Given the description of an element on the screen output the (x, y) to click on. 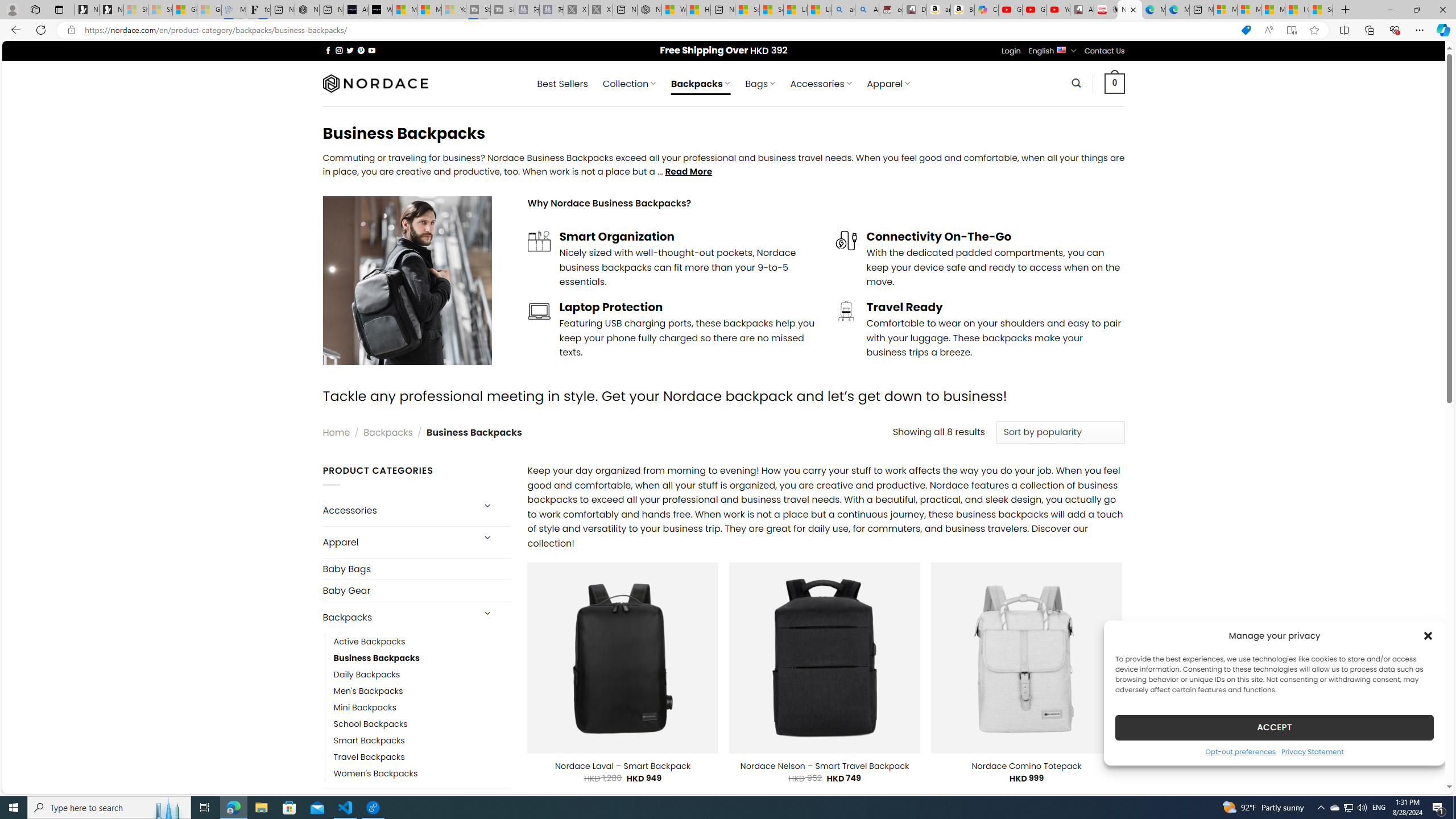
Business Backpacks (422, 657)
Baby Gear (416, 590)
Accessories (397, 510)
